Given the description of an element on the screen output the (x, y) to click on. 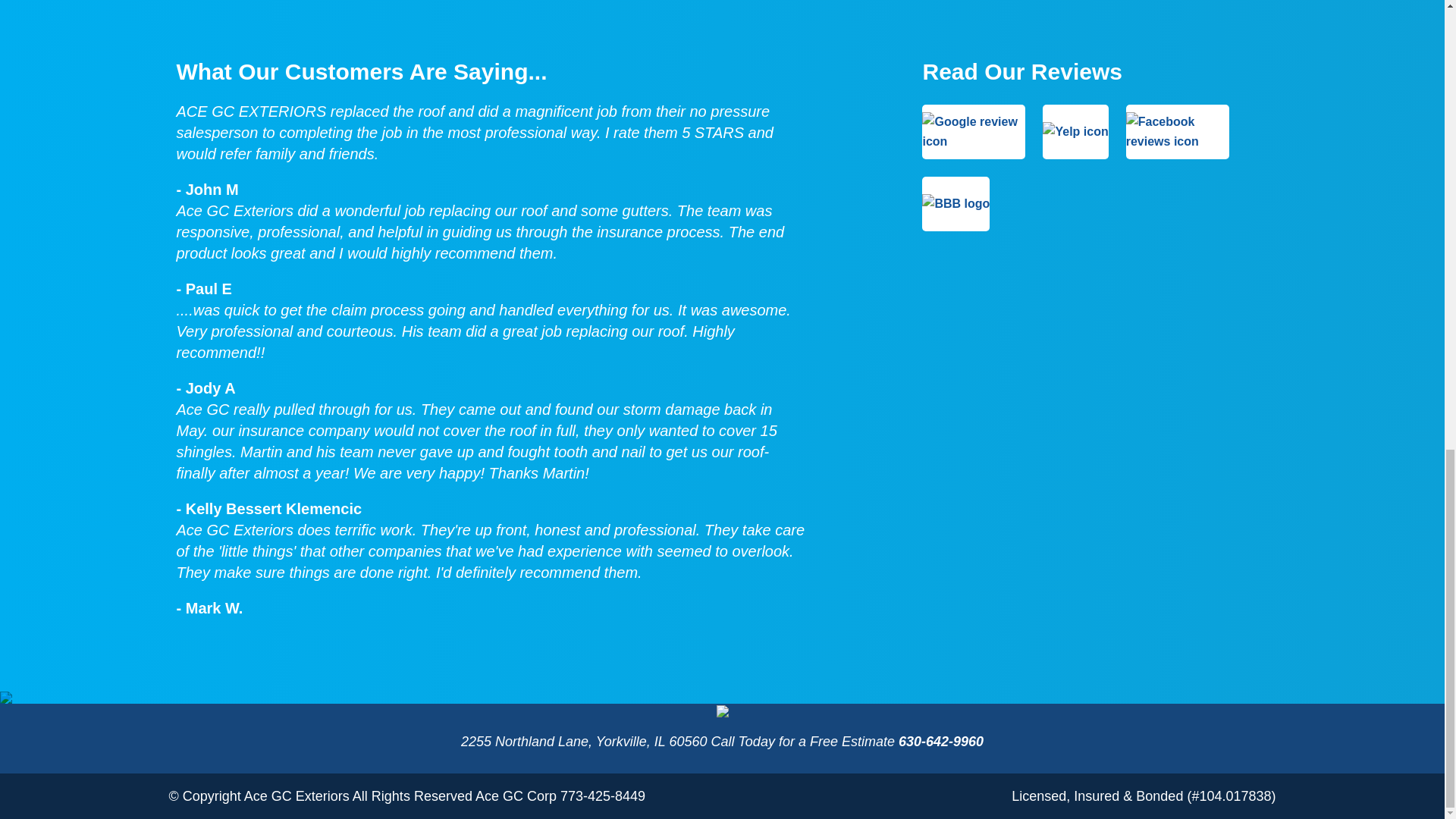
Leave a review (1075, 131)
ACE GC EXTERIORS (722, 712)
Leave a review (973, 131)
630-642-9960 (941, 741)
Leave a review (1176, 131)
Leave a review (955, 203)
